Given the description of an element on the screen output the (x, y) to click on. 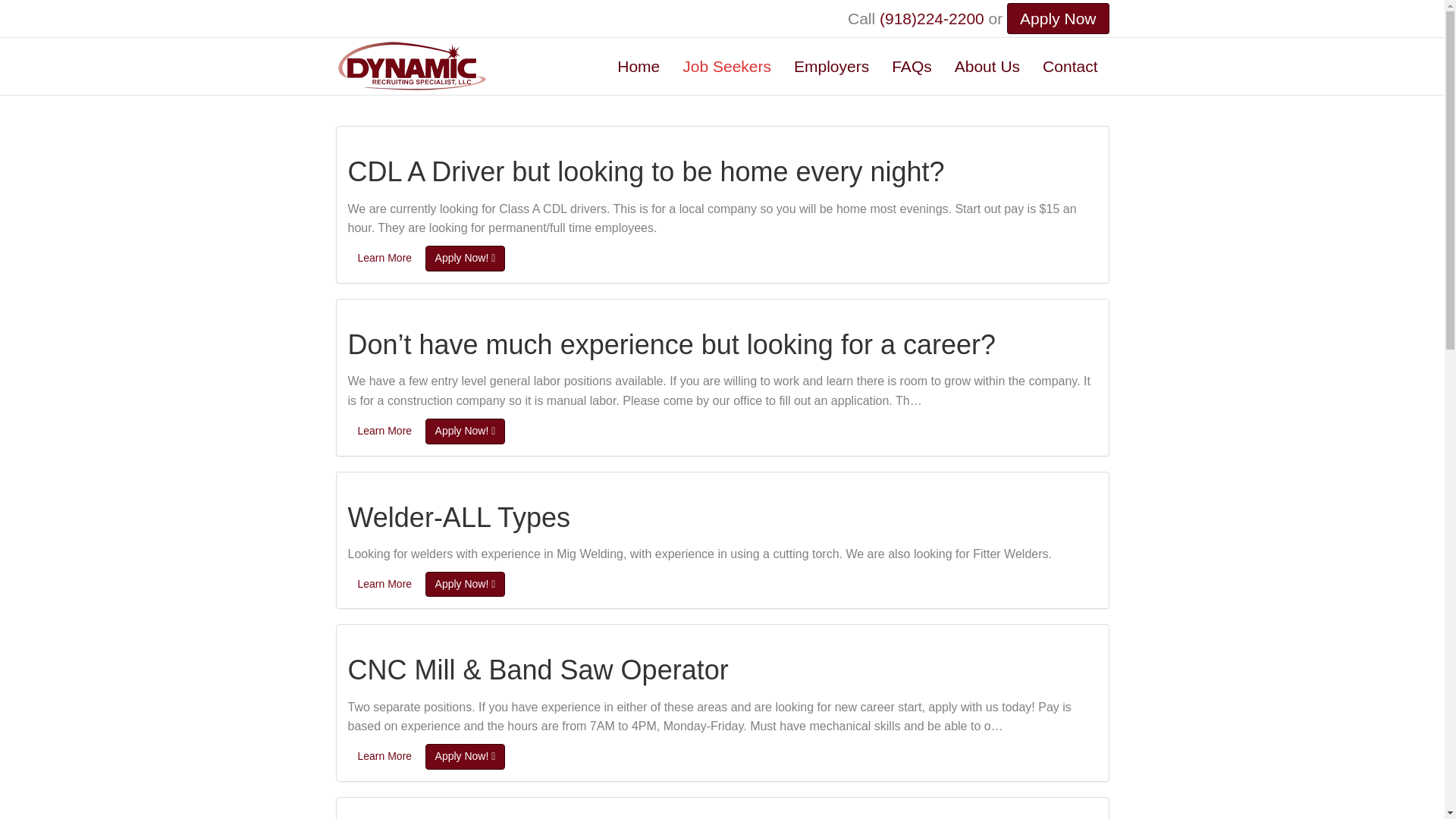
CDL A Driver but looking to be home every night? (645, 171)
FAQs (911, 66)
Apply Now! (465, 584)
Apply Now! (465, 431)
Learn More (384, 258)
Learn More (384, 431)
Learn More (384, 584)
Apply Now! (465, 756)
Welder-ALL Types (458, 517)
Employers (831, 66)
About Us (986, 66)
Apply Now (1057, 18)
Job Seekers (727, 66)
Apply Now! (465, 258)
Home (638, 66)
